Given the description of an element on the screen output the (x, y) to click on. 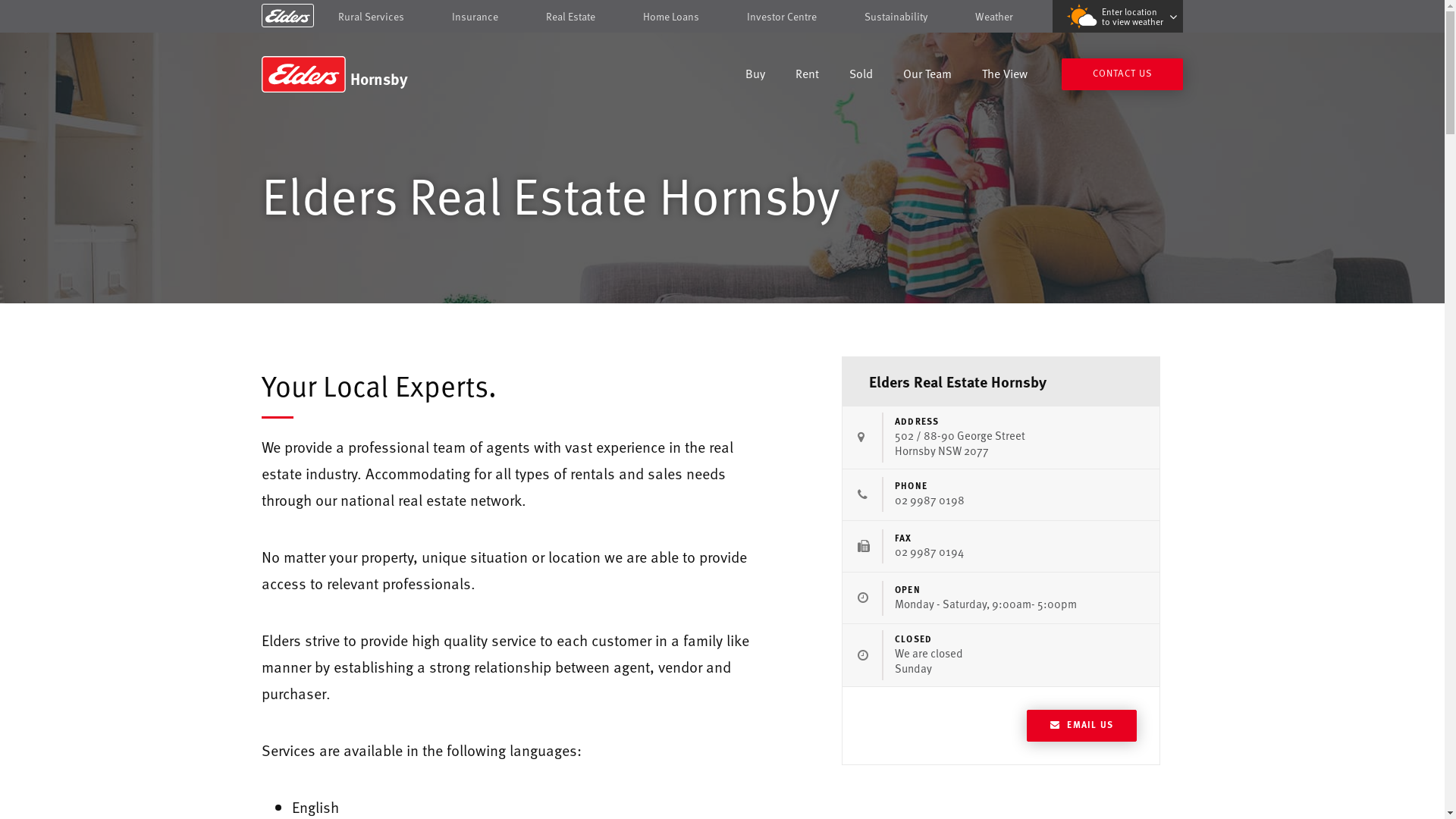
Insurance Element type: text (474, 16)
Rent Element type: text (807, 75)
Our Team Element type: text (927, 75)
Investor Centre Element type: text (781, 16)
Real Estate Element type: text (570, 16)
CONTACT US Element type: text (1122, 74)
Sold Element type: text (860, 75)
Hornsby Element type: text (369, 74)
The View Element type: text (1004, 75)
Skip to content Element type: text (722, 17)
Rural Services Element type: text (371, 16)
Sustainability Element type: text (895, 16)
Home Loans Element type: text (671, 16)
Weather Element type: text (994, 16)
EMAIL US Element type: text (1081, 724)
Buy Element type: text (755, 75)
Enter location to view weather Element type: text (1117, 16)
